Given the description of an element on the screen output the (x, y) to click on. 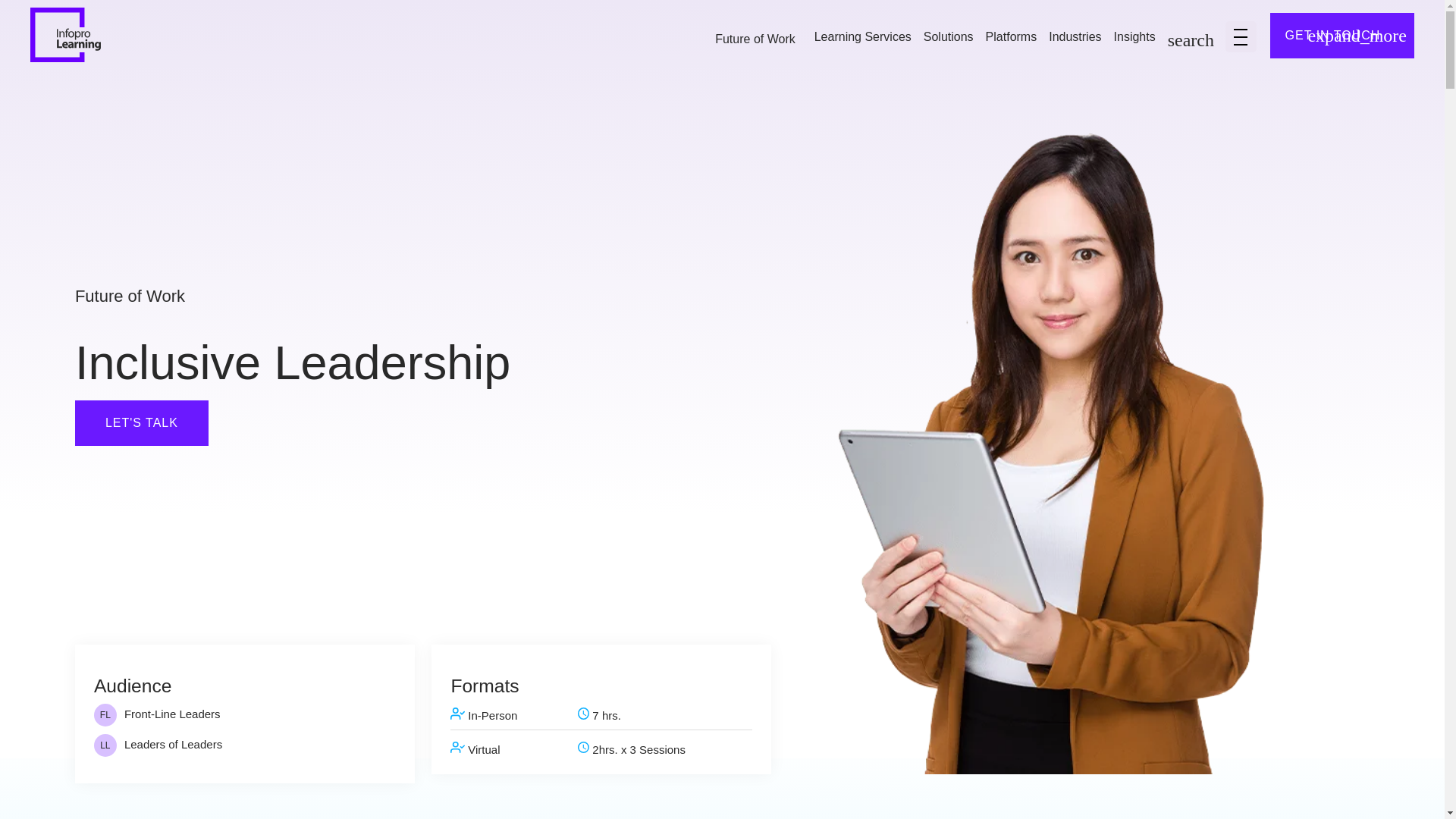
Learning Services (862, 37)
Future of Work (754, 38)
Solutions (948, 37)
Platforms (1010, 37)
